Given the description of an element on the screen output the (x, y) to click on. 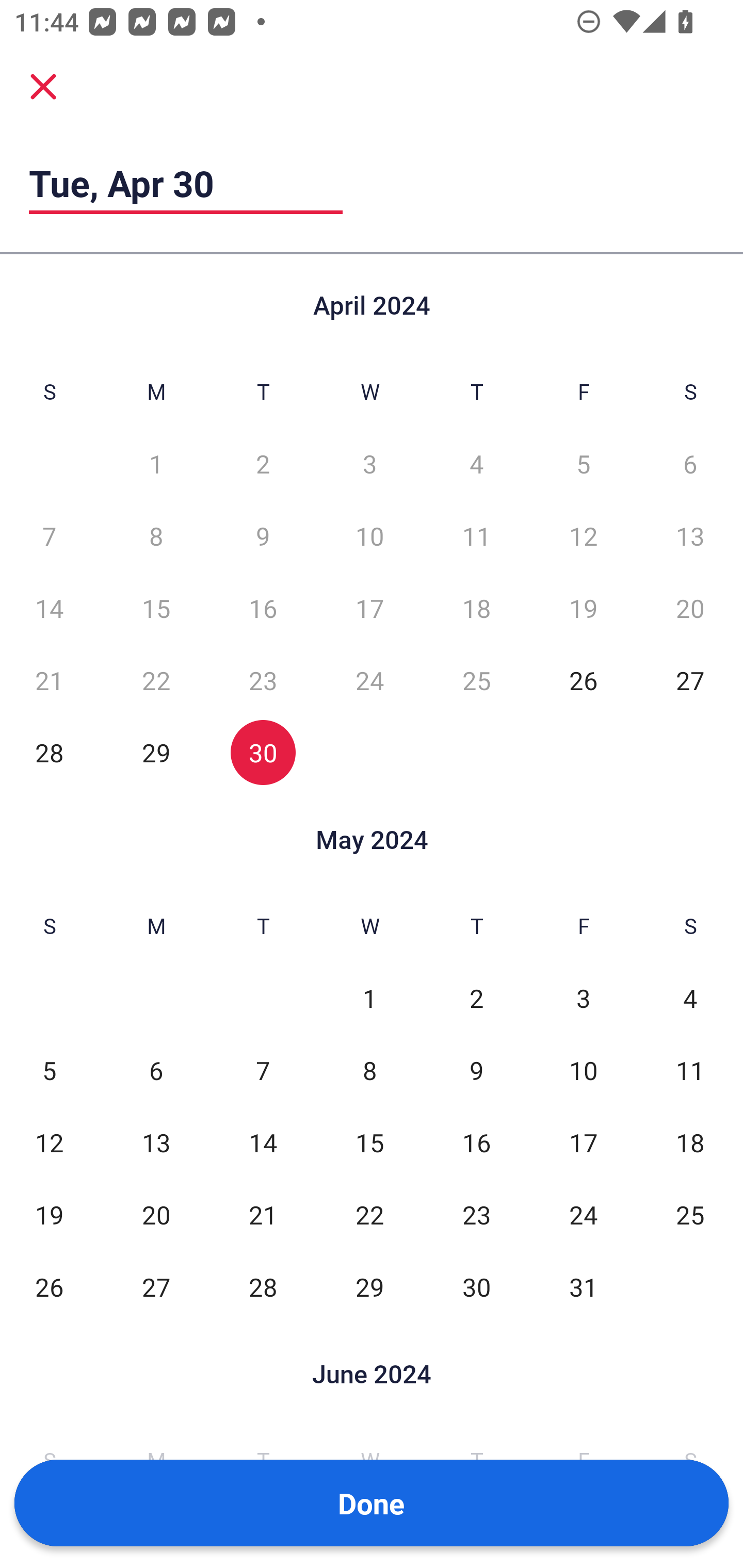
Cancel (43, 86)
Tue, Apr 30 (185, 182)
1 Mon, Apr 1, Not Selected (156, 464)
2 Tue, Apr 2, Not Selected (263, 464)
3 Wed, Apr 3, Not Selected (369, 464)
4 Thu, Apr 4, Not Selected (476, 464)
5 Fri, Apr 5, Not Selected (583, 464)
6 Sat, Apr 6, Not Selected (690, 464)
7 Sun, Apr 7, Not Selected (49, 536)
8 Mon, Apr 8, Not Selected (156, 536)
9 Tue, Apr 9, Not Selected (263, 536)
10 Wed, Apr 10, Not Selected (369, 536)
11 Thu, Apr 11, Not Selected (476, 536)
12 Fri, Apr 12, Not Selected (583, 536)
13 Sat, Apr 13, Not Selected (690, 536)
14 Sun, Apr 14, Not Selected (49, 608)
15 Mon, Apr 15, Not Selected (156, 608)
16 Tue, Apr 16, Not Selected (263, 608)
17 Wed, Apr 17, Not Selected (369, 608)
18 Thu, Apr 18, Not Selected (476, 608)
19 Fri, Apr 19, Not Selected (583, 608)
20 Sat, Apr 20, Not Selected (690, 608)
21 Sun, Apr 21, Not Selected (49, 680)
22 Mon, Apr 22, Not Selected (156, 680)
23 Tue, Apr 23, Not Selected (263, 680)
24 Wed, Apr 24, Not Selected (369, 680)
25 Thu, Apr 25, Not Selected (476, 680)
26 Fri, Apr 26, Not Selected (583, 680)
27 Sat, Apr 27, Not Selected (690, 680)
28 Sun, Apr 28, Not Selected (49, 752)
29 Mon, Apr 29, Not Selected (156, 752)
30 Tue, Apr 30, Selected (263, 752)
1 Wed, May 1, Not Selected (369, 997)
2 Thu, May 2, Not Selected (476, 997)
3 Fri, May 3, Not Selected (583, 997)
4 Sat, May 4, Not Selected (690, 997)
5 Sun, May 5, Not Selected (49, 1070)
6 Mon, May 6, Not Selected (156, 1070)
7 Tue, May 7, Not Selected (263, 1070)
8 Wed, May 8, Not Selected (369, 1070)
9 Thu, May 9, Not Selected (476, 1070)
10 Fri, May 10, Not Selected (583, 1070)
11 Sat, May 11, Not Selected (690, 1070)
12 Sun, May 12, Not Selected (49, 1143)
13 Mon, May 13, Not Selected (156, 1143)
14 Tue, May 14, Not Selected (263, 1143)
15 Wed, May 15, Not Selected (369, 1143)
16 Thu, May 16, Not Selected (476, 1143)
17 Fri, May 17, Not Selected (583, 1143)
18 Sat, May 18, Not Selected (690, 1143)
